Given the description of an element on the screen output the (x, y) to click on. 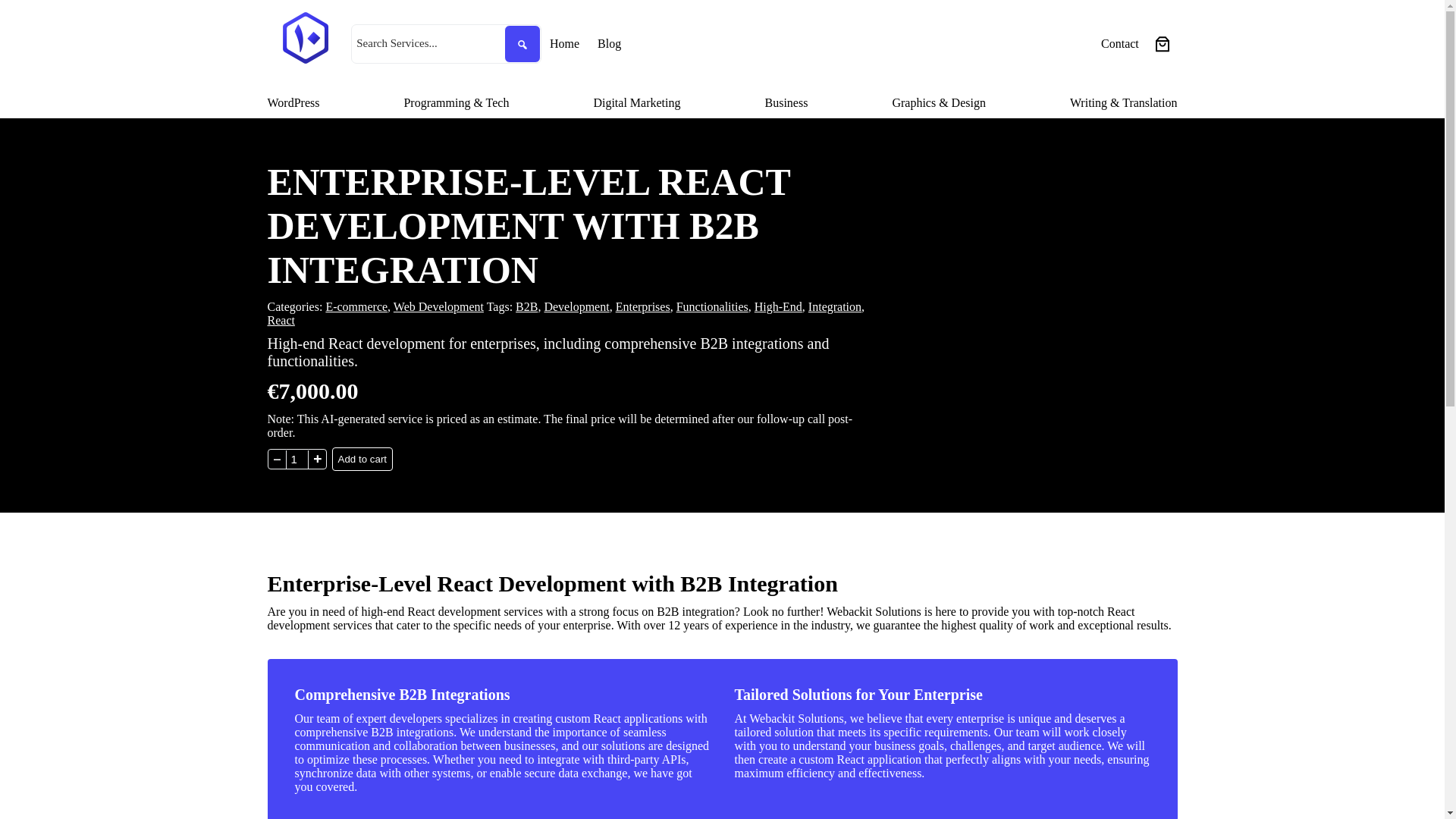
Add to cart (362, 458)
Functionalities (712, 306)
WordPress (292, 103)
React (280, 319)
B2B (526, 306)
Contact (1119, 44)
Blog (608, 44)
Web Development (438, 306)
Development (575, 306)
Home (564, 44)
1 (296, 459)
Integration (834, 306)
Business (786, 103)
High-End (778, 306)
Enterprises (642, 306)
